Given the description of an element on the screen output the (x, y) to click on. 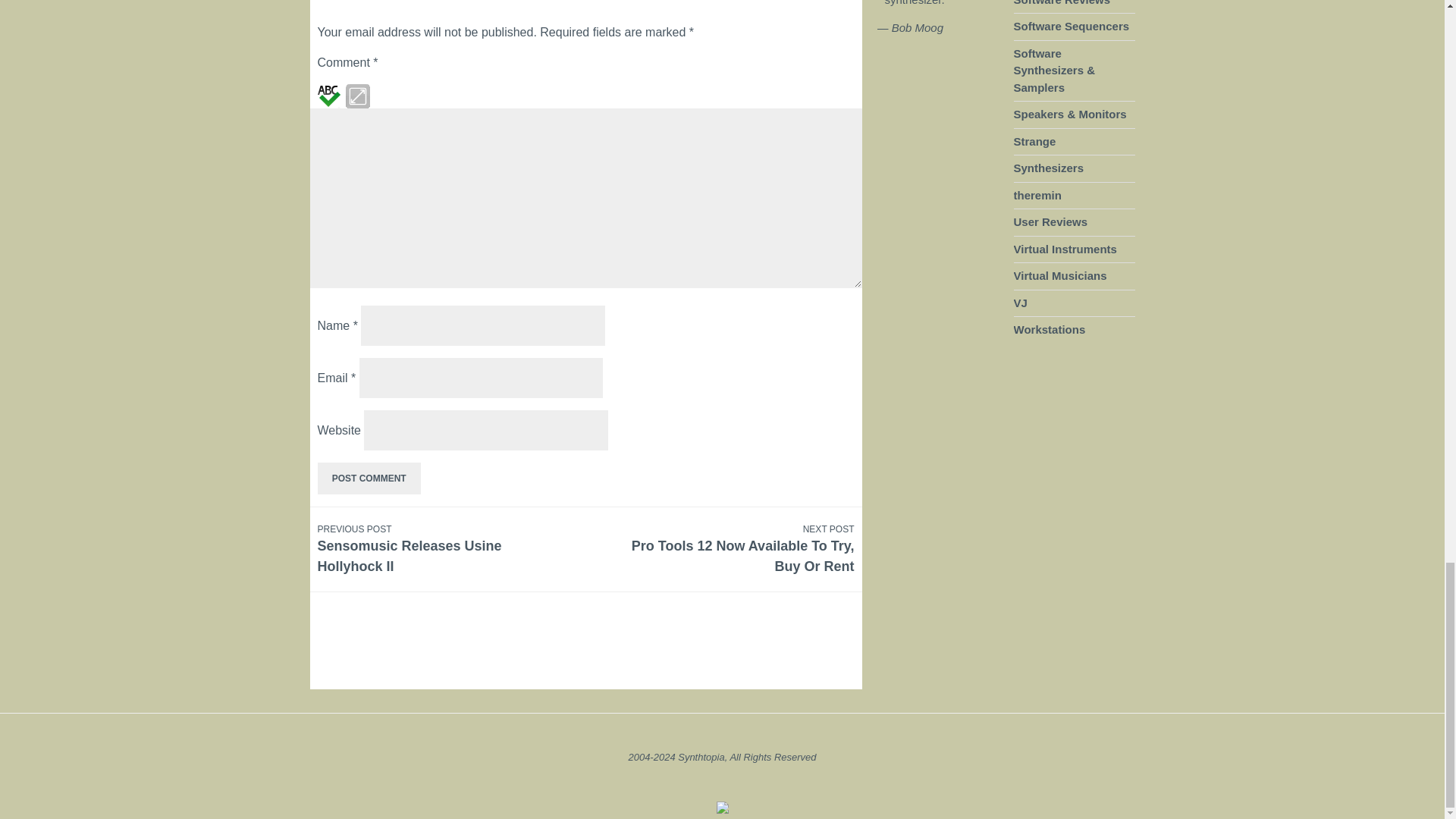
Post Comment (729, 548)
Post Comment (368, 478)
Gear and software reviews by Synthtopia readers. (368, 478)
